Given the description of an element on the screen output the (x, y) to click on. 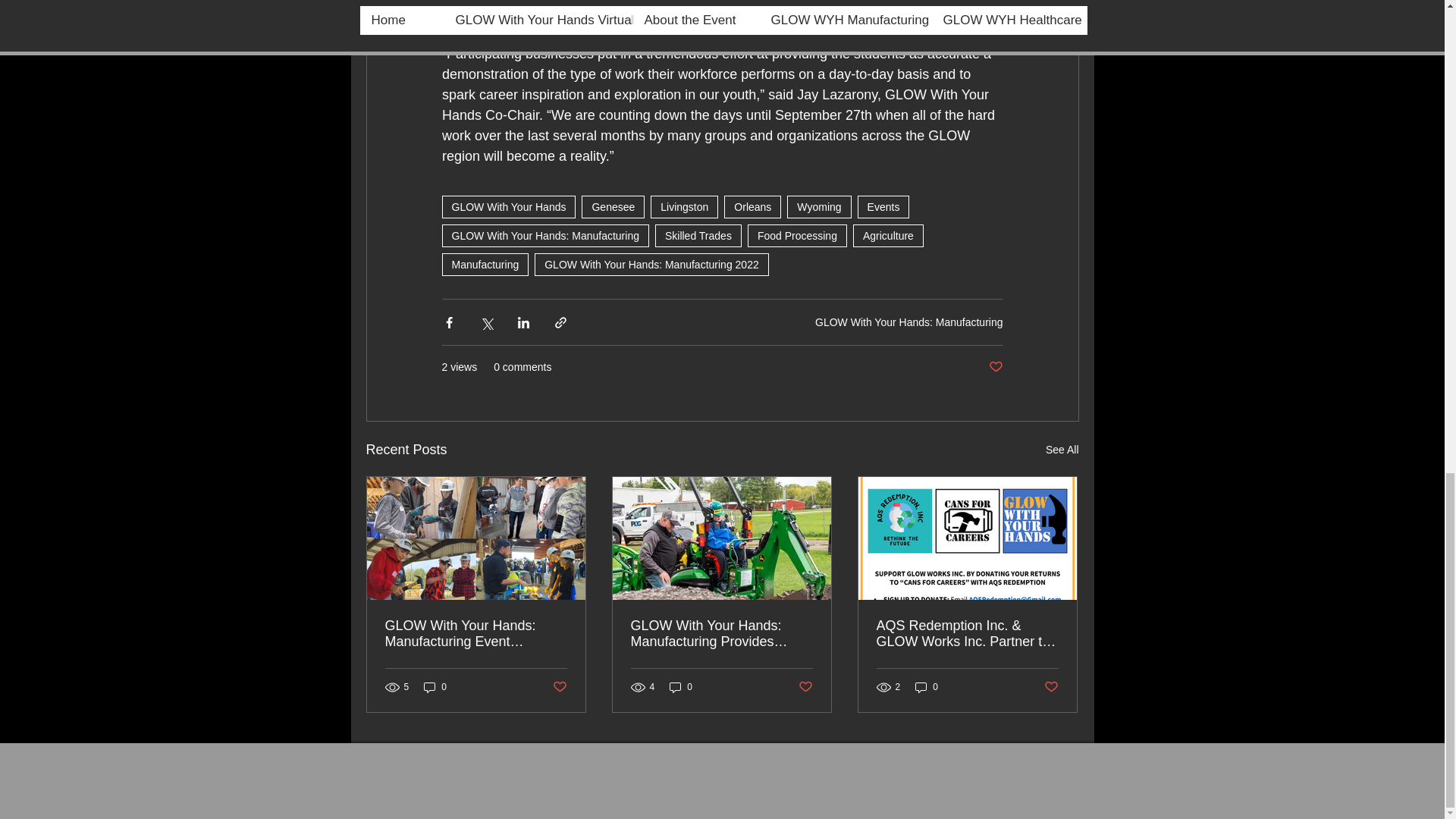
GLOW With Your Hands: Manufacturing 2022 (651, 264)
GLOW With Your Hands: Manufacturing (544, 235)
Livingston (683, 206)
GLOW With Your Hands (508, 206)
Agriculture (888, 235)
Wyoming (818, 206)
Skilled Trades (698, 235)
Orleans (751, 206)
Food Processing (797, 235)
Manufacturing (484, 264)
